Given the description of an element on the screen output the (x, y) to click on. 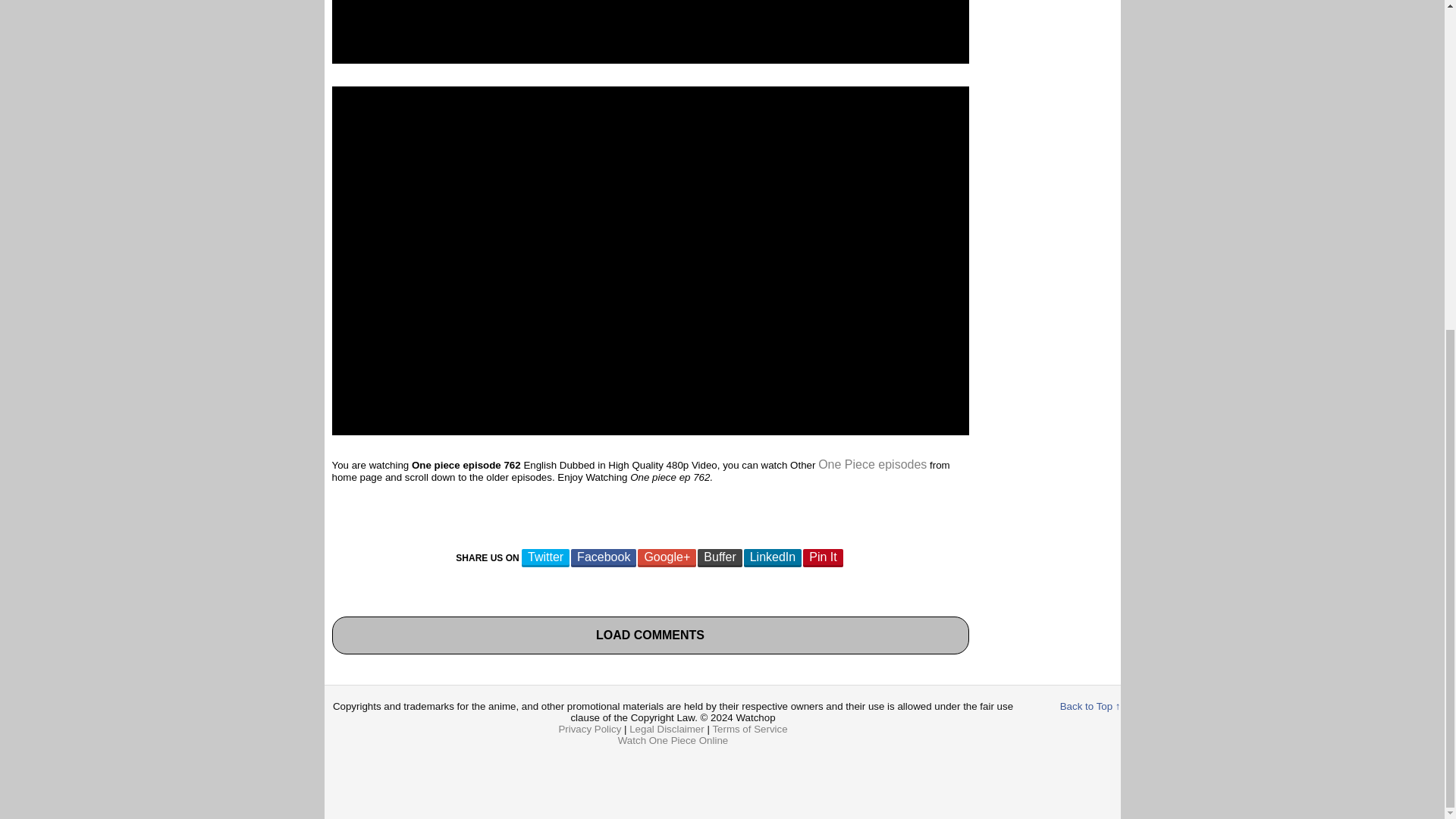
Privacy Policy (589, 728)
Terms of Service (749, 728)
Buffer (719, 557)
One Piece episodes (872, 463)
Watch One Piece Online (672, 740)
LinkedIn (773, 557)
LOAD COMMENTS (649, 634)
Twitter (545, 557)
Legal Disclaimer (666, 728)
Facebook (603, 557)
